Given the description of an element on the screen output the (x, y) to click on. 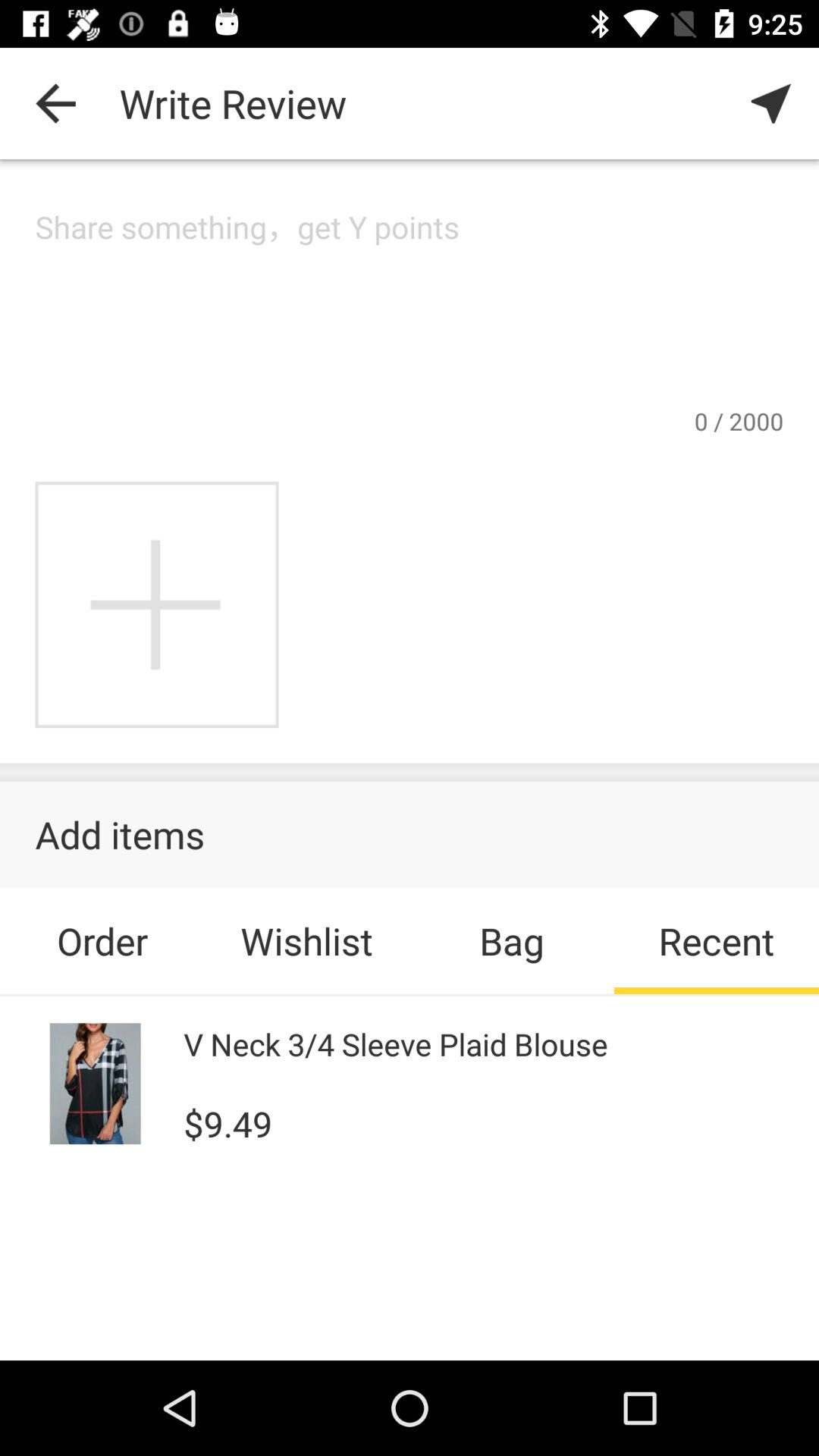
press $9.49 (227, 1121)
